Given the description of an element on the screen output the (x, y) to click on. 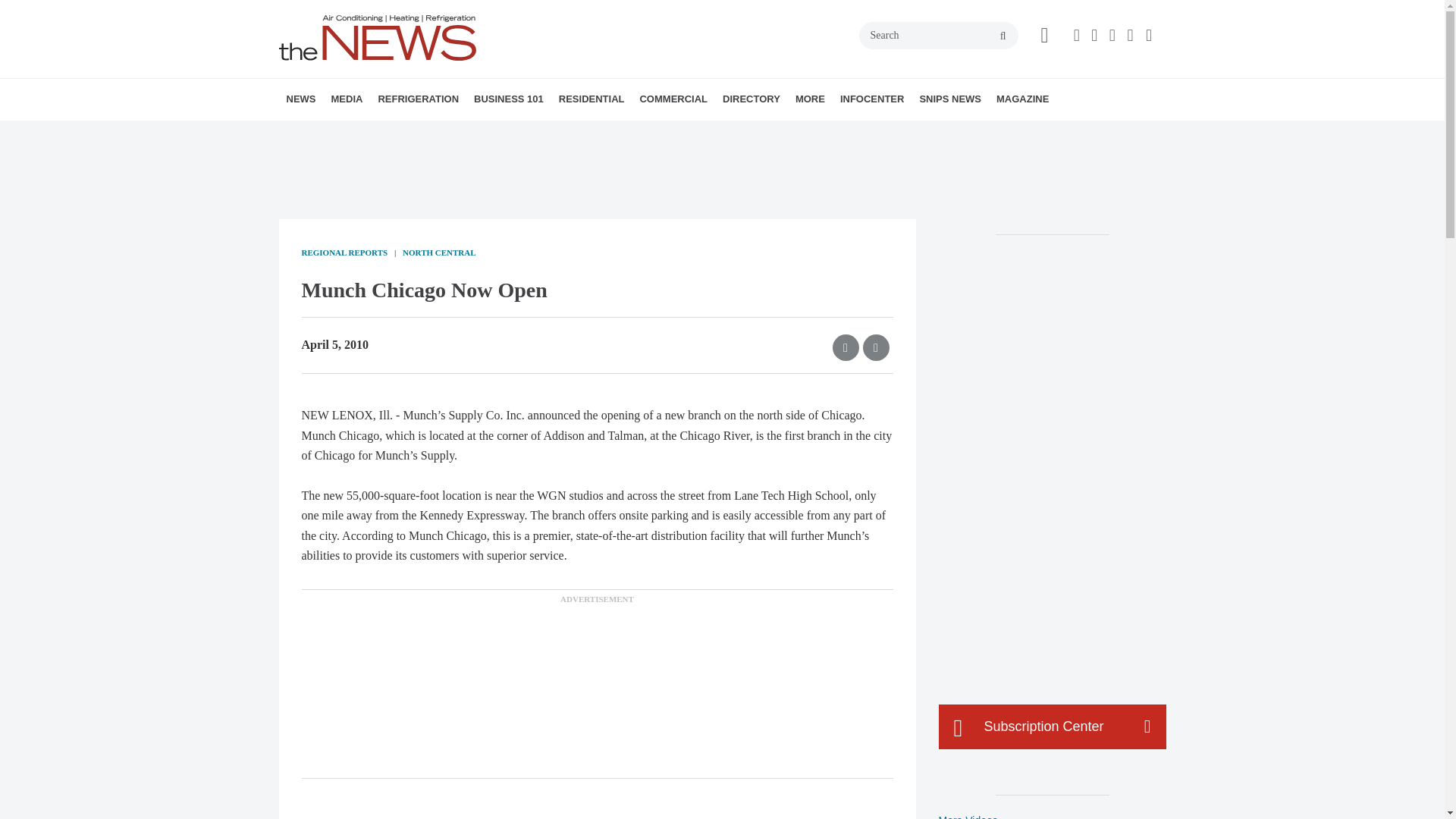
BUSINESS 101 (508, 98)
REFRIGERANT REGULATIONS (472, 132)
NEWS (301, 98)
EBOOKS (442, 132)
MANUFACTURER REPORTS (386, 132)
PODCASTS (430, 132)
WEBINARS (436, 132)
NEW HVAC PRODUCTS (380, 132)
THE NEWS HVACR QUIZ (445, 132)
REFRIGERATION (417, 98)
HVAC DATA (391, 132)
Search (938, 35)
AHR EXPO 2024 VIDEOS (424, 132)
ONLINE POLL (452, 132)
VIDEOS (417, 132)
